Given the description of an element on the screen output the (x, y) to click on. 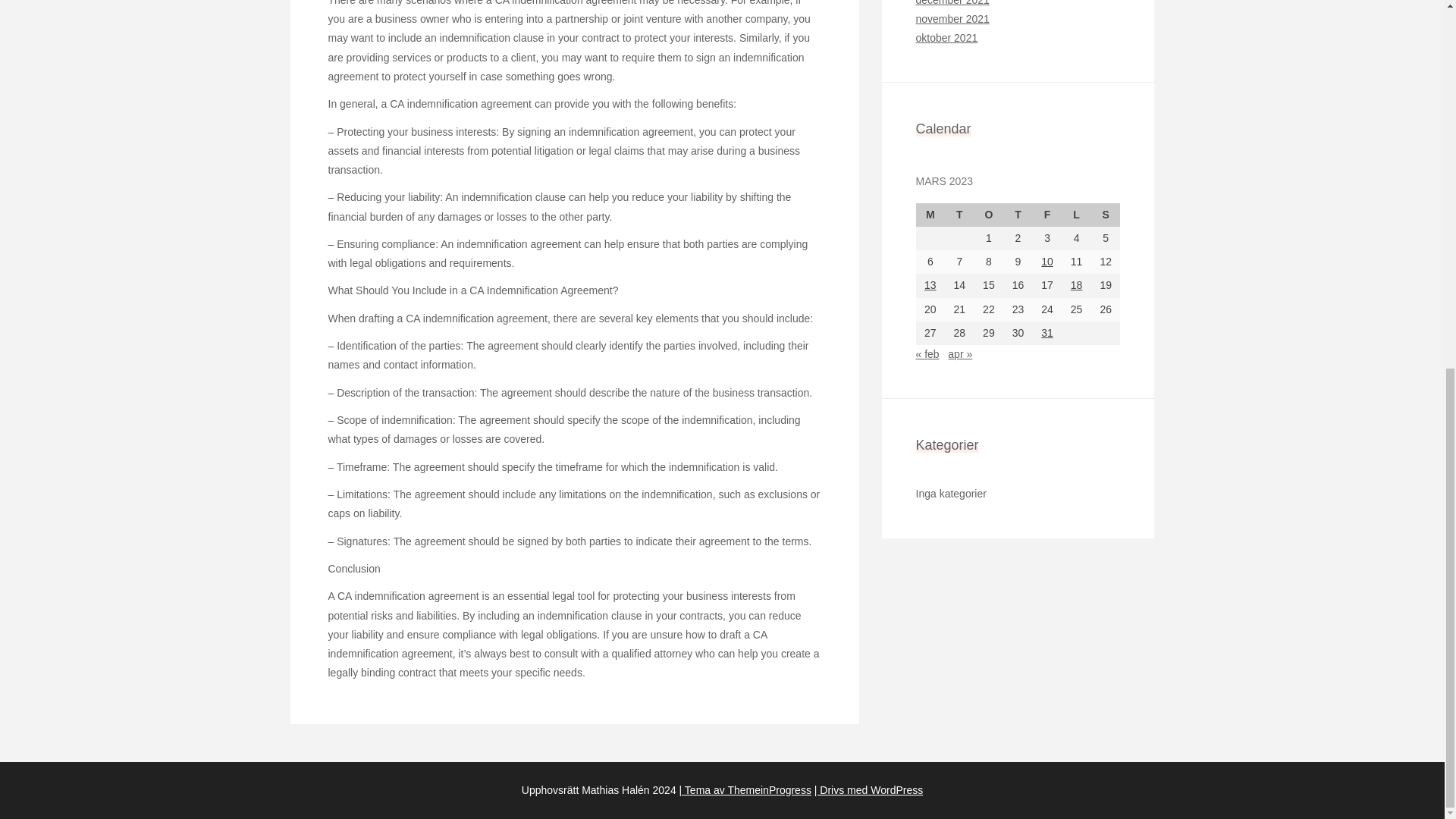
torsdag (1017, 214)
tisdag (959, 214)
fredag (1047, 214)
onsdag (989, 214)
